Given the description of an element on the screen output the (x, y) to click on. 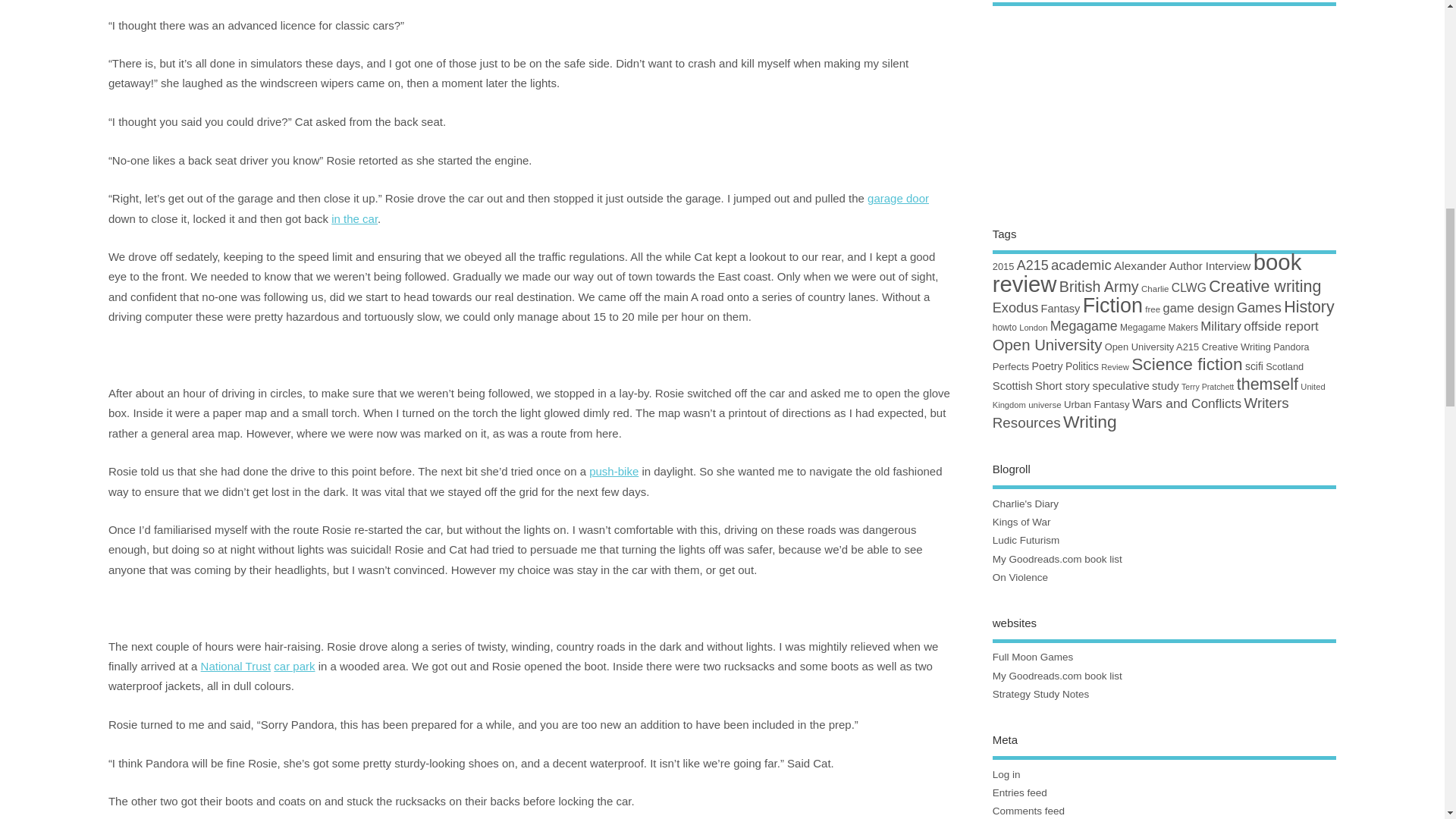
In the Car (354, 218)
Sign me up! (1316, 196)
Email Address (1346, 168)
Garage door (897, 197)
Bicycle (614, 471)
Parking lot (293, 666)
